Given the description of an element on the screen output the (x, y) to click on. 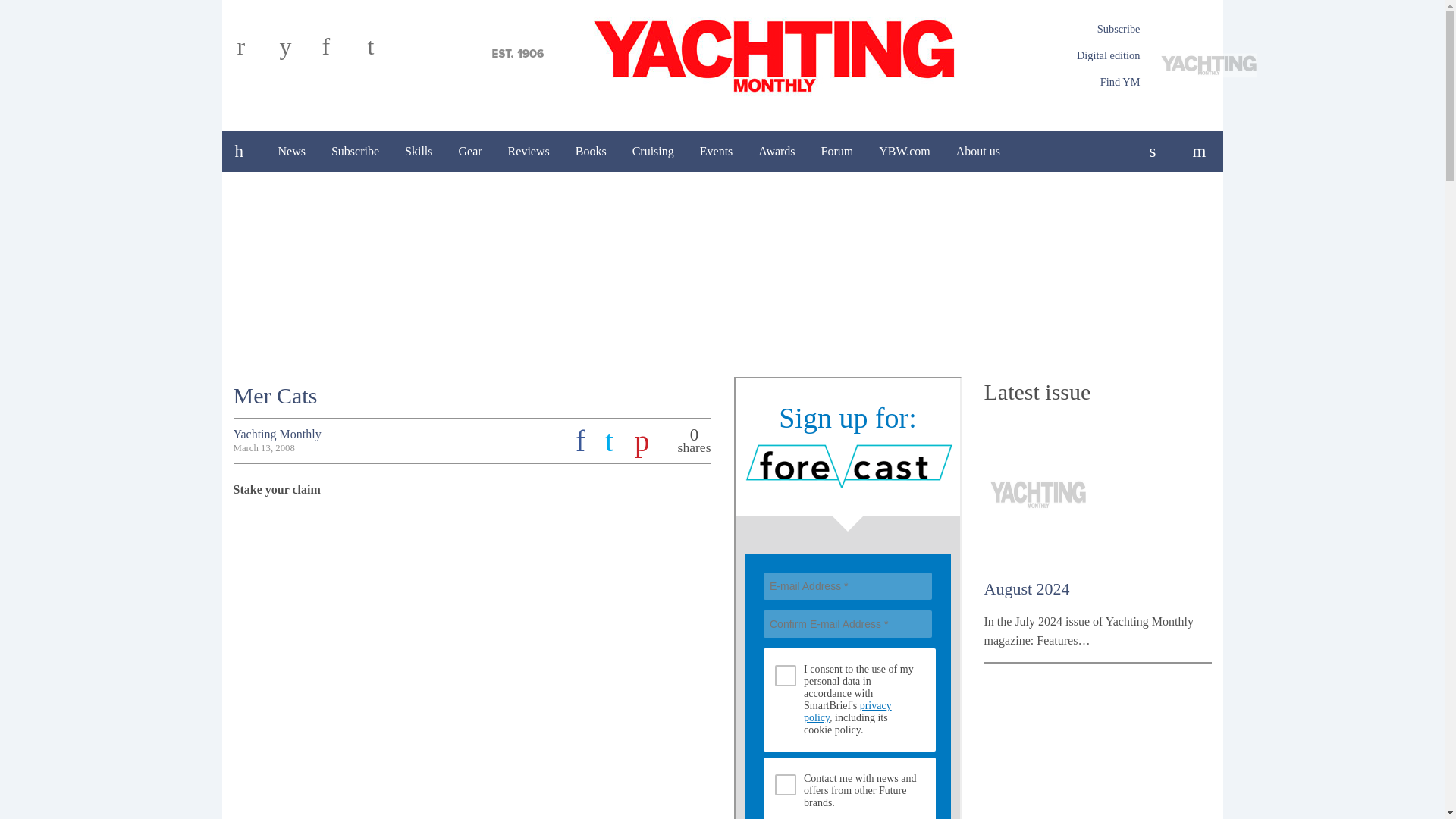
Digital edition (1108, 55)
Skills (418, 151)
f (339, 52)
Find YM (1120, 81)
t (384, 52)
Gear (470, 151)
Yachting Monthly (722, 53)
Yachting Monthly (722, 53)
Awards (776, 151)
Find YM (1120, 81)
